Given the description of an element on the screen output the (x, y) to click on. 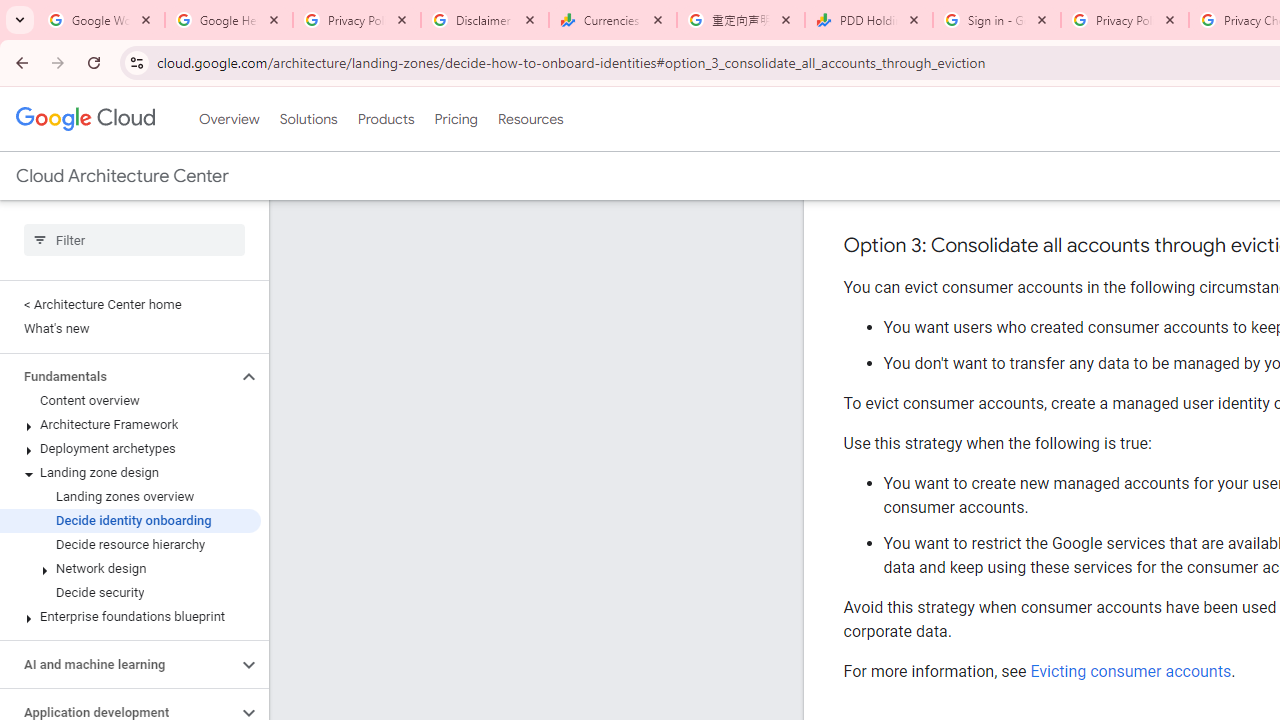
Google Cloud (84, 118)
Enterprise foundations blueprint (130, 616)
Fundamentals (118, 376)
Resources (530, 119)
Migrating consumer accounts (1136, 187)
Google Workspace Admin Community (101, 20)
Cloud Architecture Center (122, 175)
